Given the description of an element on the screen output the (x, y) to click on. 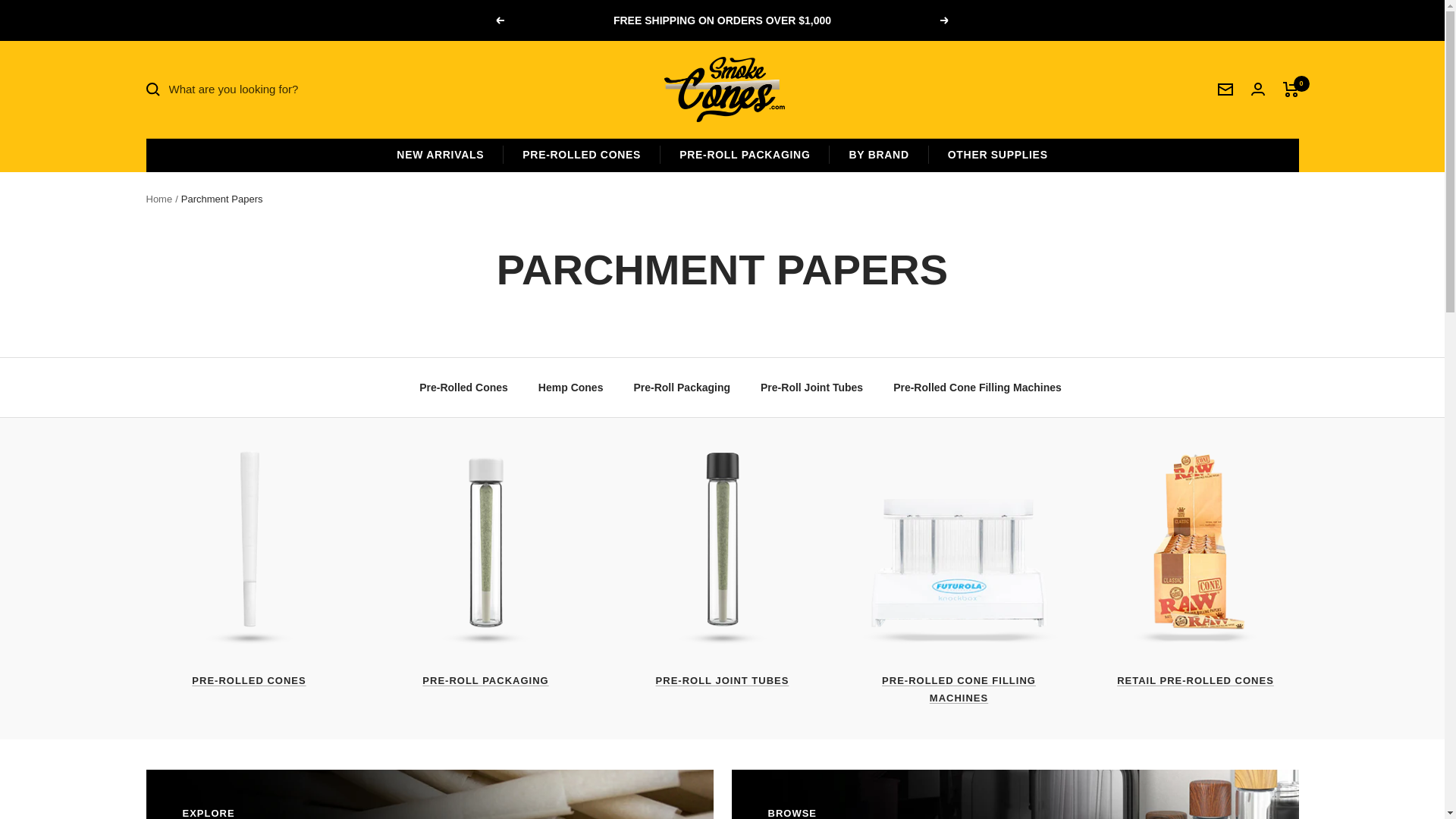
Previous (499, 20)
Hemp Cones (571, 387)
Next (944, 20)
OTHER SUPPLIES (997, 154)
Pre-Rolled Cones (463, 387)
PRE-ROLLED CONES (581, 154)
Pre-Roll Joint Tubes (811, 387)
Smoke Cones (1014, 794)
NEW ARRIVALS (722, 89)
BY BRAND (429, 794)
Pre-Roll Packaging (439, 154)
